Given the description of an element on the screen output the (x, y) to click on. 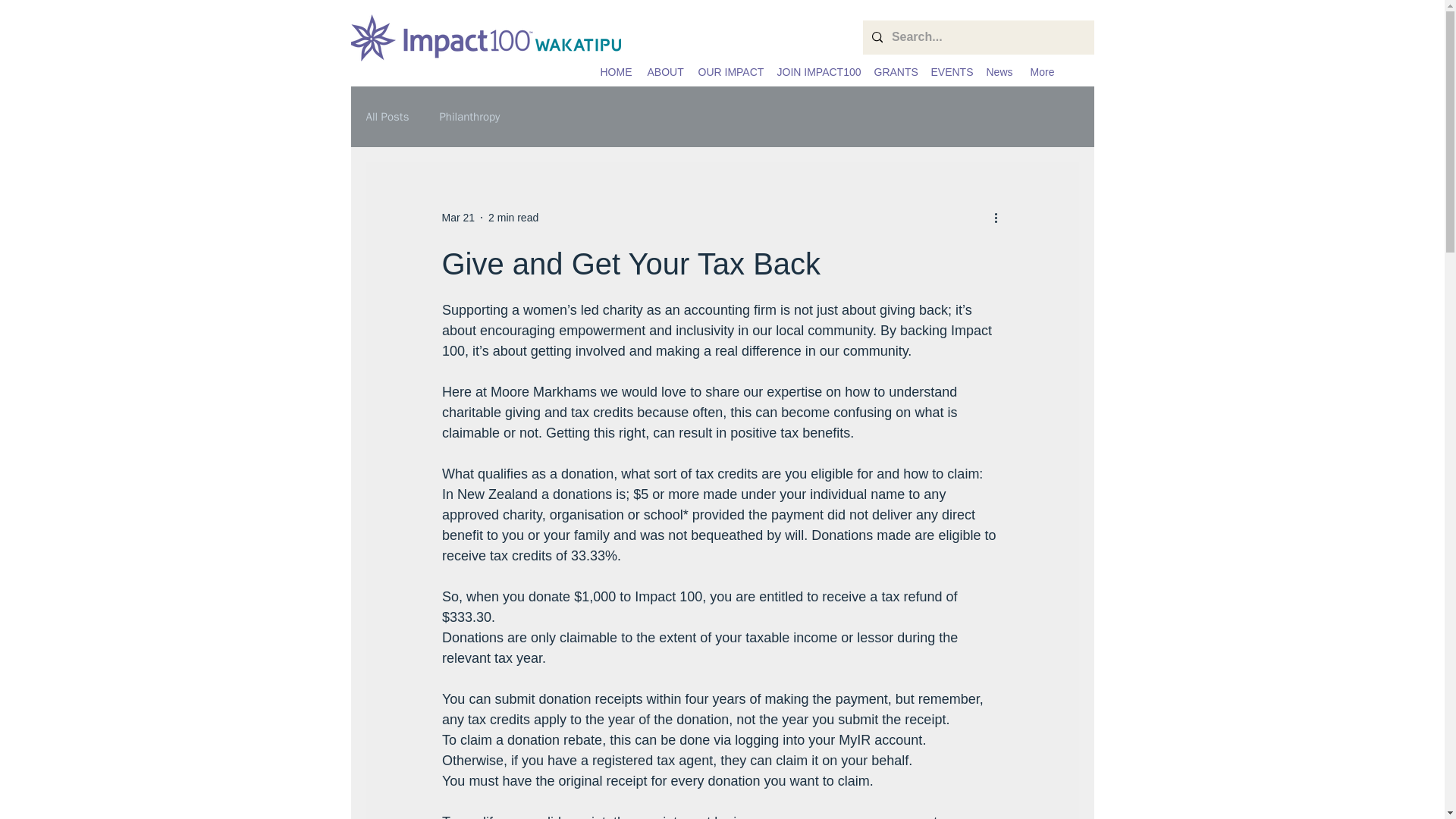
ABOUT (665, 71)
GRANTS (894, 71)
JOIN IMPACT100 (817, 71)
EVENTS (949, 71)
Philanthropy (469, 115)
Mar 21 (457, 216)
OUR IMPACT (729, 71)
2 min read (512, 216)
All Posts (387, 115)
HOME (616, 71)
